Given the description of an element on the screen output the (x, y) to click on. 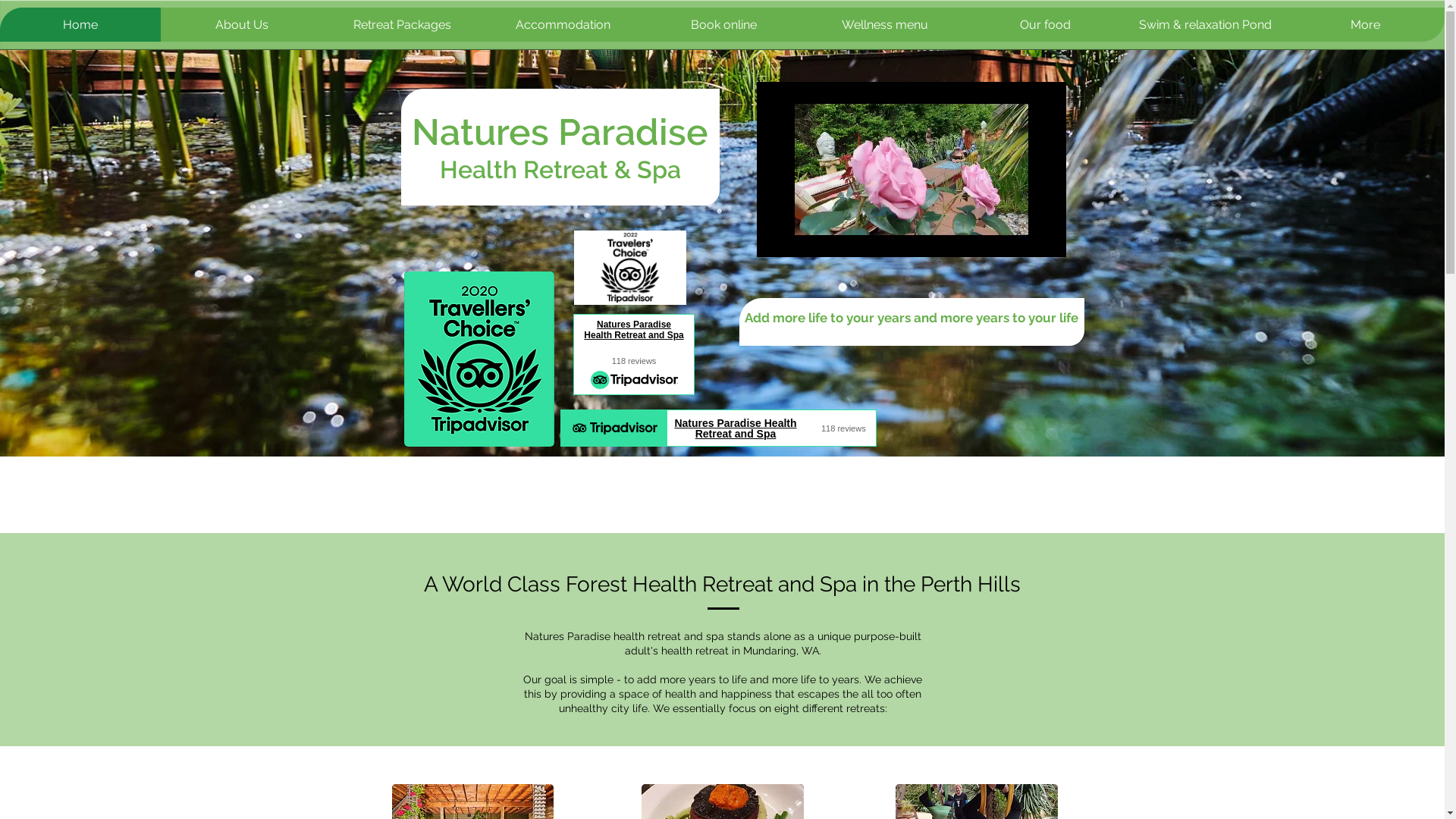
Embedded Content Element type: hover (725, 429)
Retreat Packages Element type: text (401, 24)
Our food Element type: text (1044, 24)
Accommodation Element type: text (562, 24)
About Us Element type: text (240, 24)
Home Element type: text (80, 24)
Book online Element type: text (723, 24)
Swim & relaxation Pond Element type: text (1204, 24)
Embedded Content Element type: hover (632, 358)
Embedded Content Element type: hover (646, 282)
Wellness menu Element type: text (883, 24)
